Given the description of an element on the screen output the (x, y) to click on. 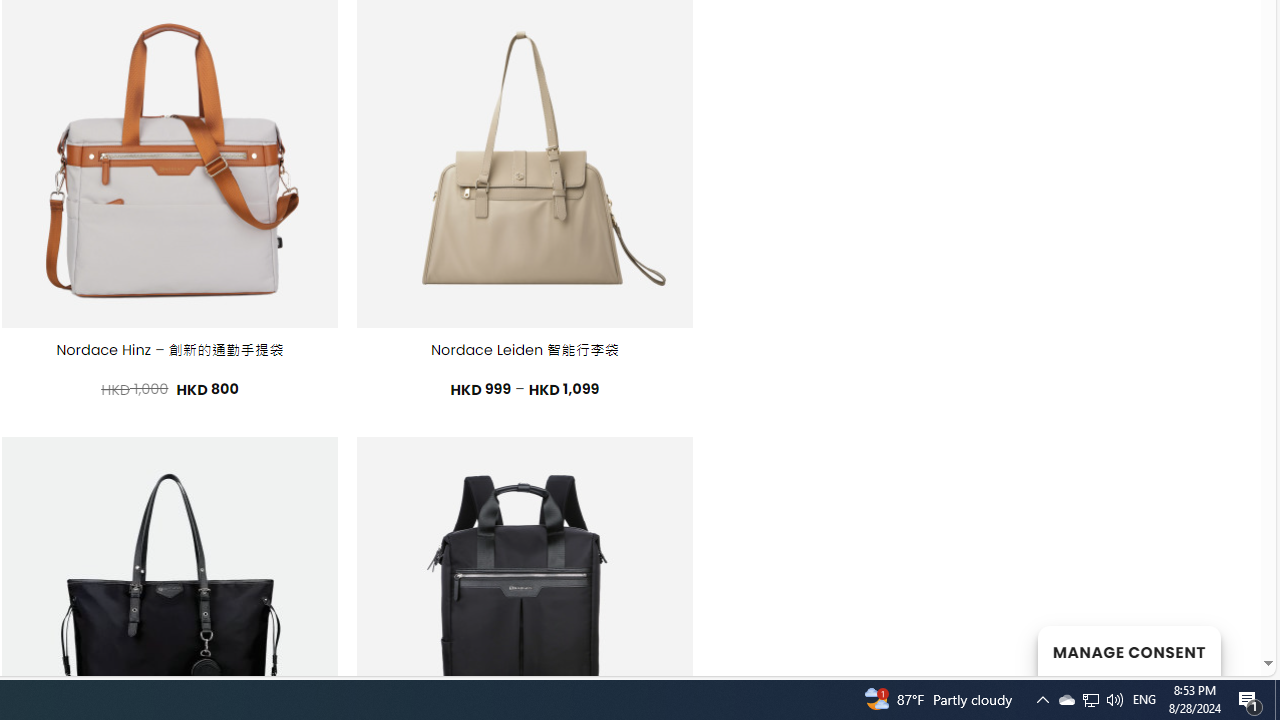
MANAGE CONSENT (1128, 650)
